Given the description of an element on the screen output the (x, y) to click on. 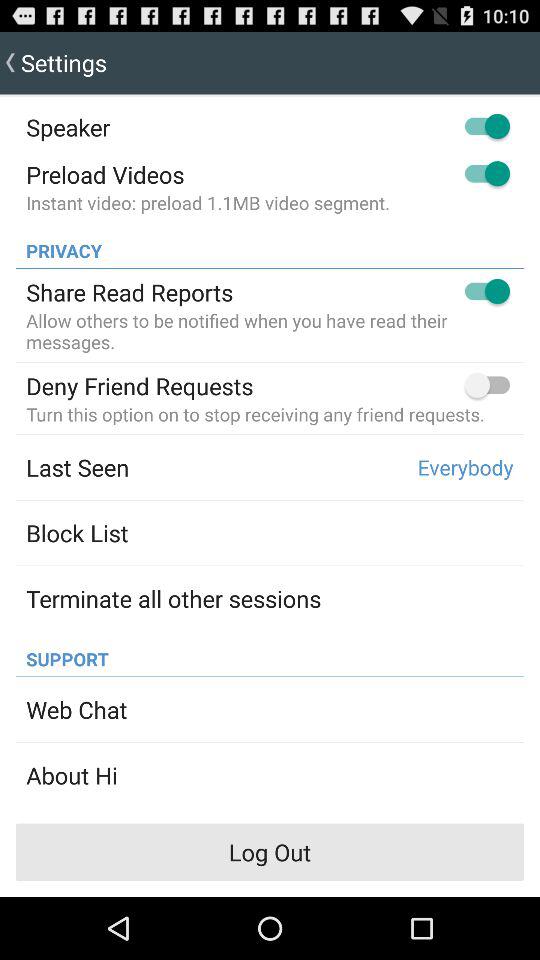
flip until the web chat item (76, 709)
